Given the description of an element on the screen output the (x, y) to click on. 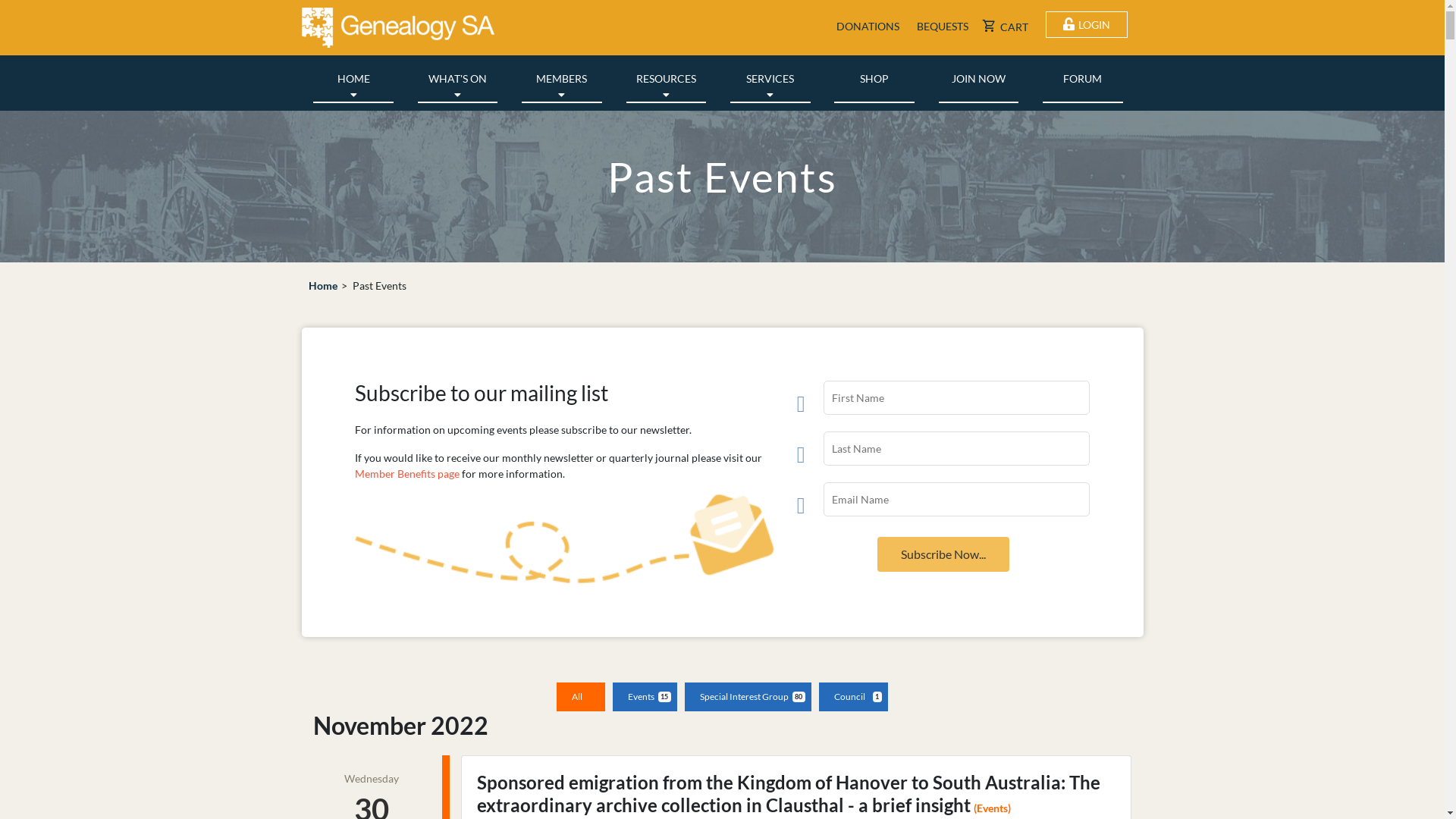
MEMBERS Element type: text (561, 79)
RESOURCES Element type: text (666, 79)
DONATIONS Element type: text (865, 25)
JOIN NOW Element type: text (978, 79)
LOGIN Element type: text (1086, 24)
SHOP Element type: text (874, 79)
HOME Element type: text (353, 79)
FORUM Element type: text (1082, 79)
All Element type: text (580, 696)
Member Benefits page Element type: text (406, 473)
Council
1 Element type: text (853, 696)
SERVICES Element type: text (770, 79)
WHAT'S ON Element type: text (457, 79)
Subscribe Now... Element type: text (943, 553)
Events
15 Element type: text (644, 696)
CART Element type: text (1005, 26)
Home Element type: text (322, 285)
Special Interest Group
80 Element type: text (747, 696)
BEQUESTS Element type: text (940, 25)
